Given the description of an element on the screen output the (x, y) to click on. 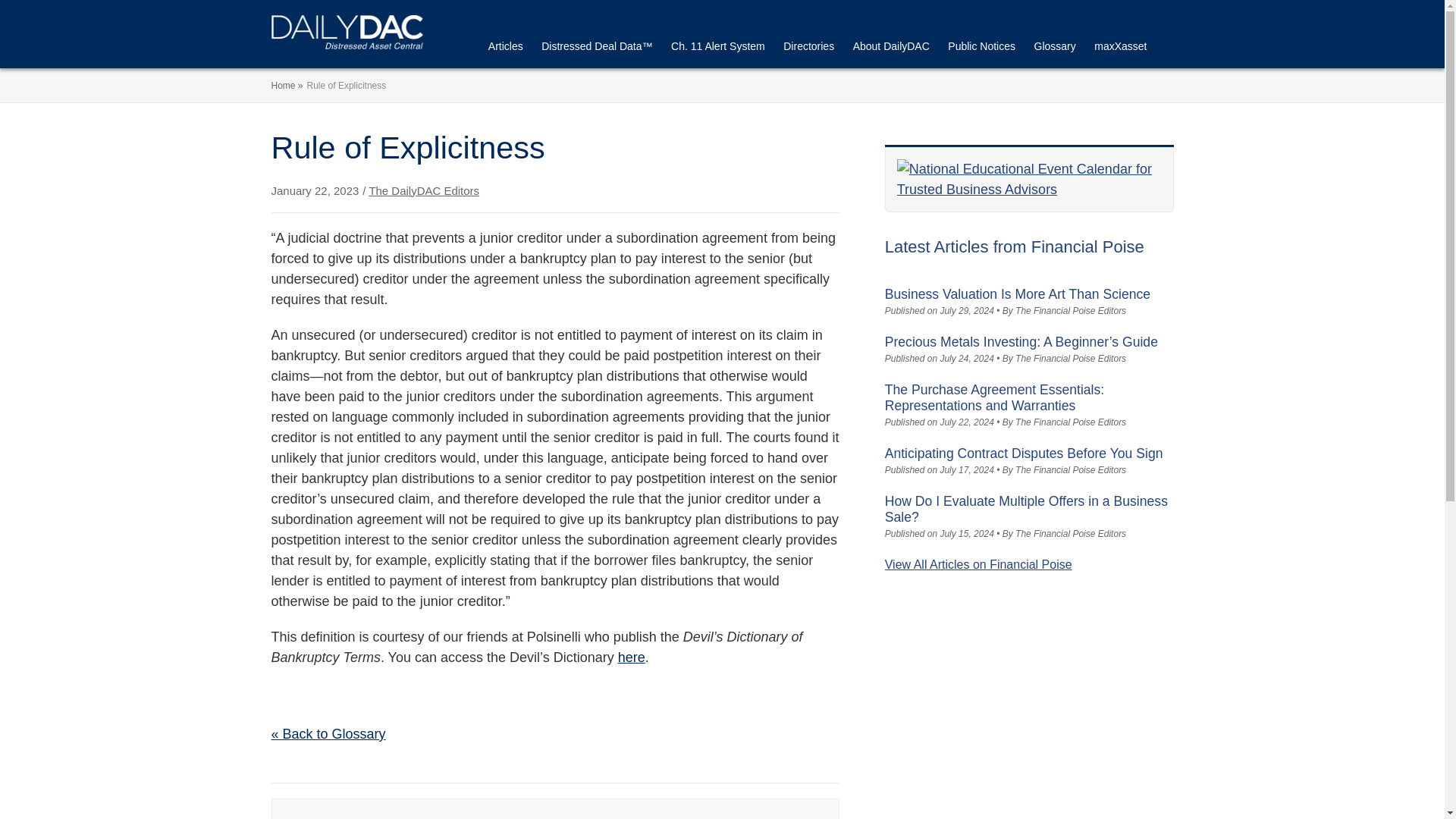
maxXasset (1120, 48)
About DailyDAC (891, 48)
Public Notices (980, 48)
Glossary (1054, 48)
Ch. 11 Alert System (718, 48)
Articles (504, 48)
Posts by The DailyDAC Editors (423, 190)
Directories (808, 48)
The DailyDAC Editors (423, 190)
